Given the description of an element on the screen output the (x, y) to click on. 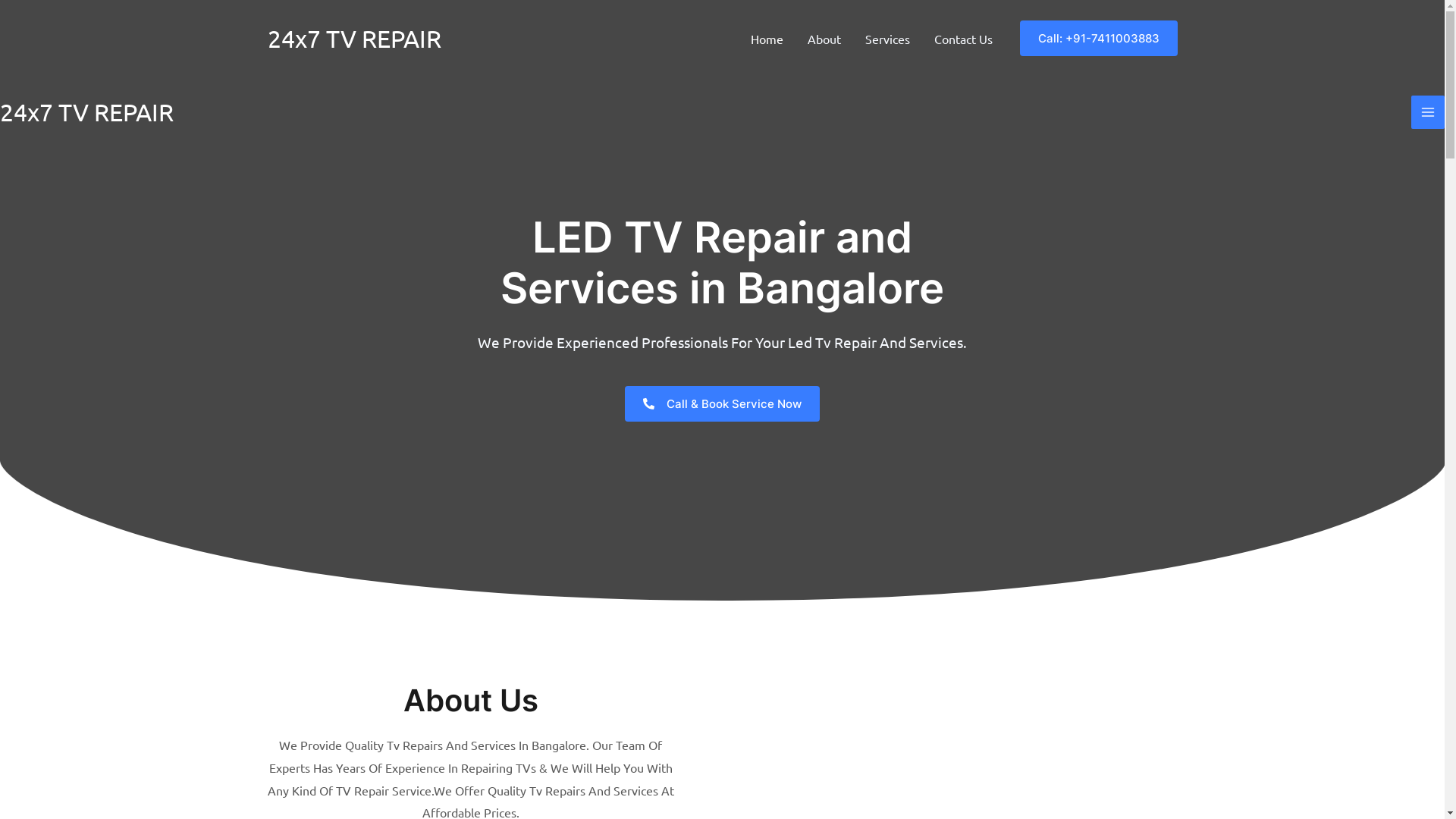
Call: +91-7411003883 Element type: text (1097, 38)
About Element type: text (823, 38)
Call & Book Service Now Element type: text (721, 403)
Services Element type: text (886, 38)
Home Element type: text (766, 38)
Contact Us Element type: text (963, 38)
